Given the description of an element on the screen output the (x, y) to click on. 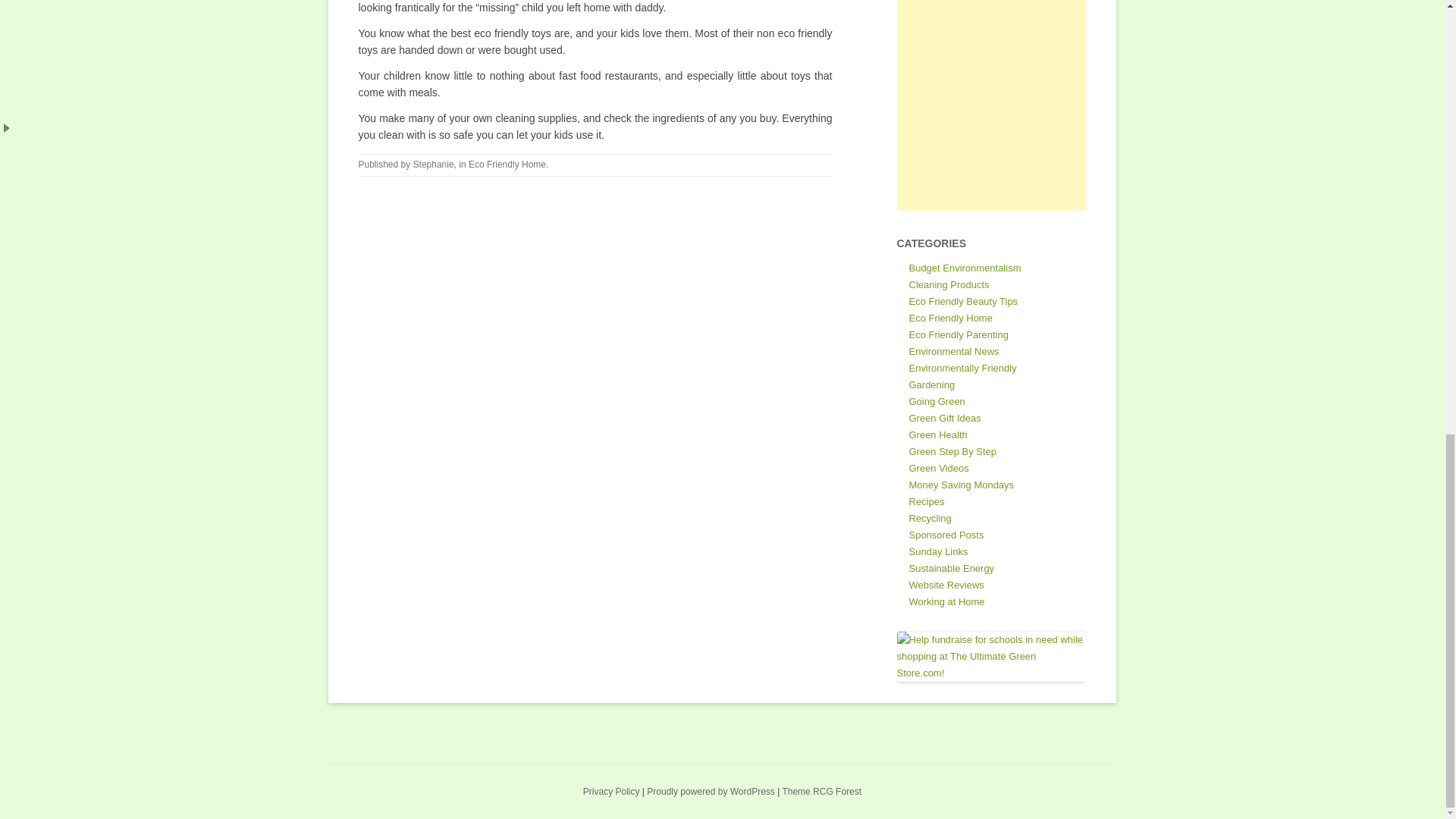
Going Green (935, 401)
Green Step By Step (951, 451)
Environmental News (953, 351)
Green Health (937, 434)
Advertisement (721, 732)
Green Gift Ideas (943, 418)
Eco Friendly Beauty Tips (962, 301)
Advertisement (991, 105)
Money Saving Mondays (960, 484)
Eco Friendly Home (507, 163)
